Given the description of an element on the screen output the (x, y) to click on. 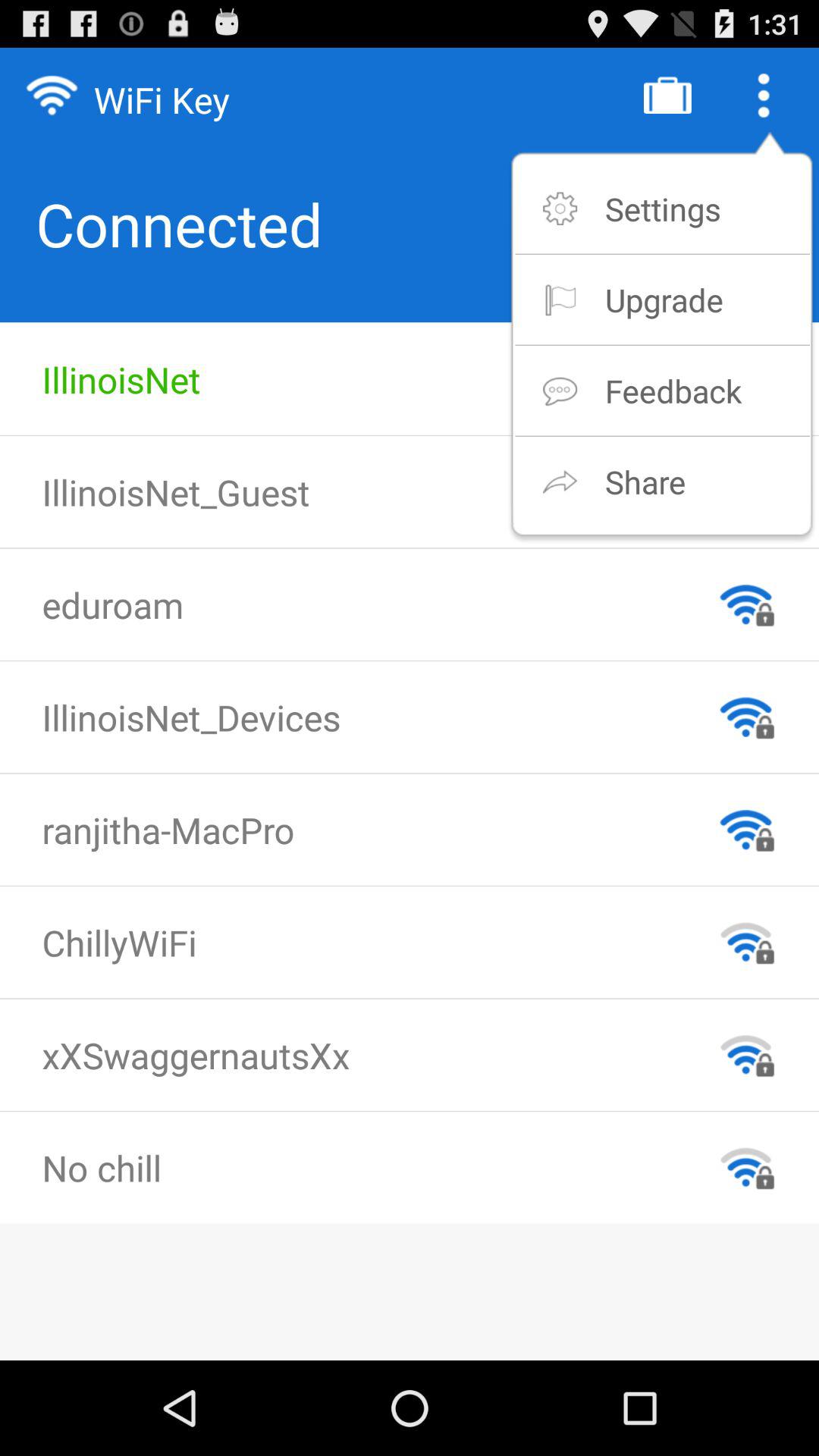
swipe until the share app (645, 481)
